Given the description of an element on the screen output the (x, y) to click on. 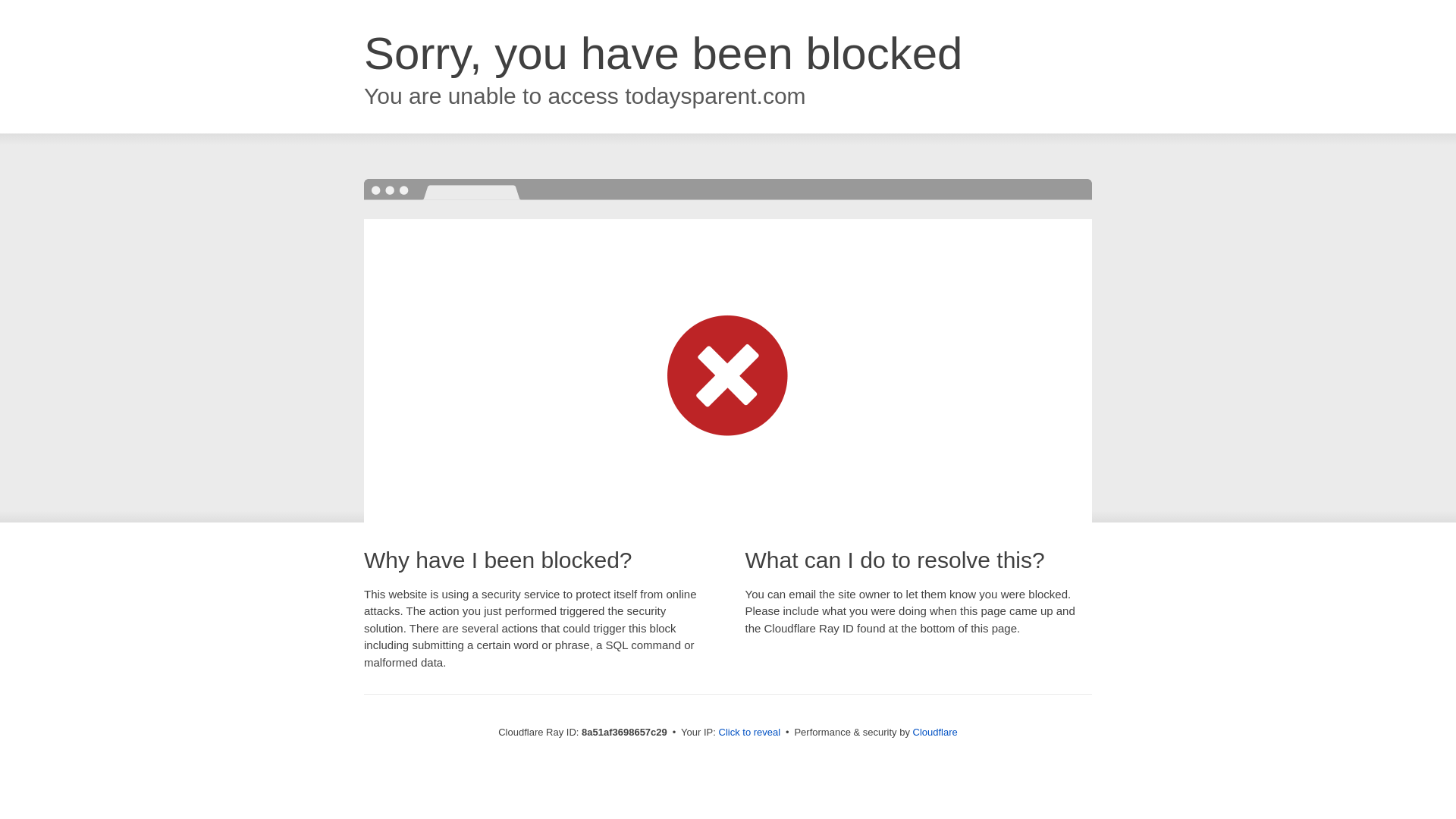
Cloudflare (935, 731)
Click to reveal (749, 732)
